Given the description of an element on the screen output the (x, y) to click on. 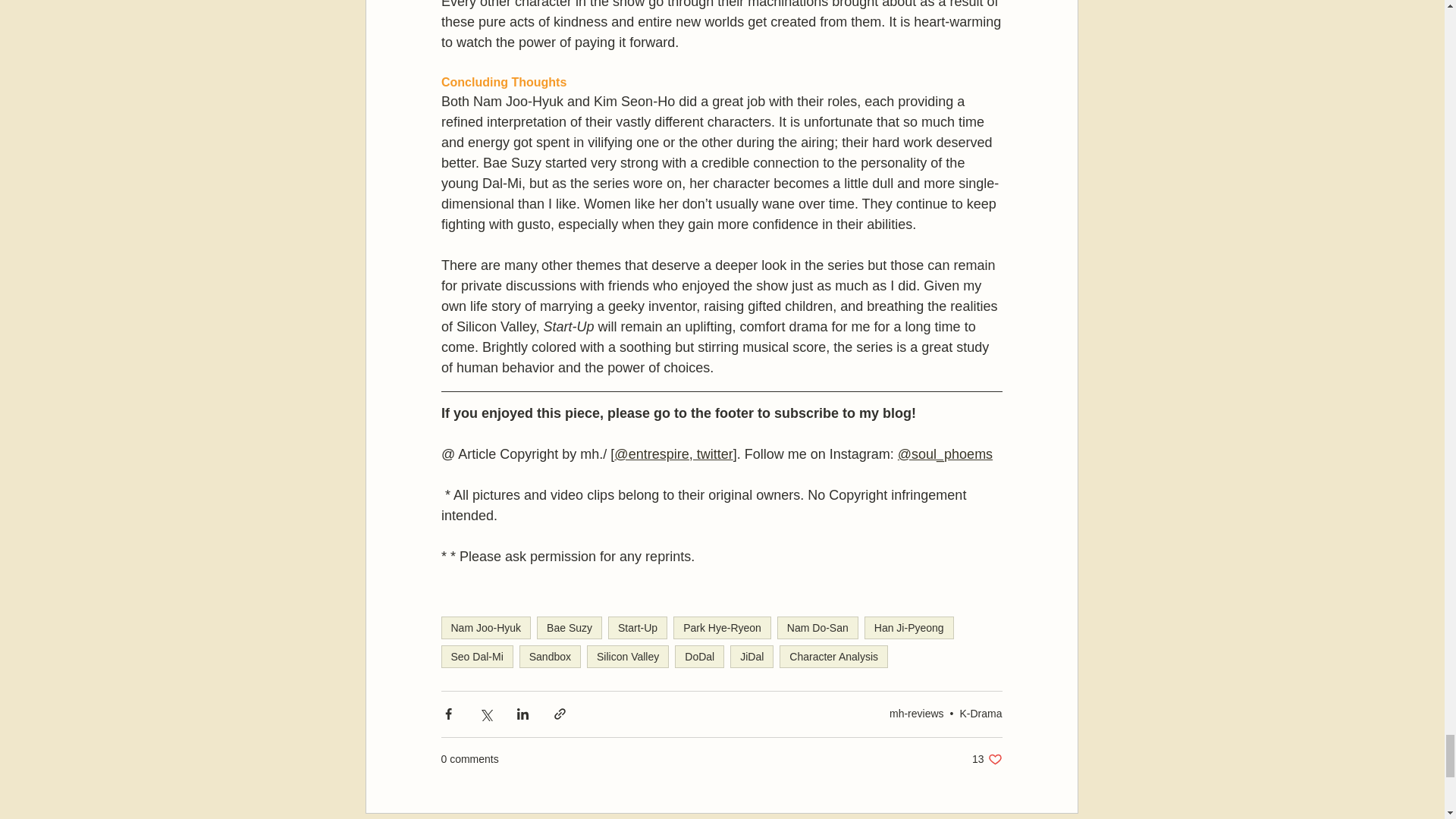
JiDal (751, 656)
Silicon Valley (627, 656)
Sandbox (549, 656)
Start-Up (637, 627)
Park Hye-Ryeon (721, 627)
Nam Do-San (818, 627)
K-Drama (980, 713)
Nam Joo-Hyuk (486, 627)
Han Ji-Pyeong (908, 627)
mh-reviews (916, 713)
Bae Suzy (569, 627)
Character Analysis (833, 656)
Seo Dal-Mi (477, 656)
DoDal (699, 656)
